Given the description of an element on the screen output the (x, y) to click on. 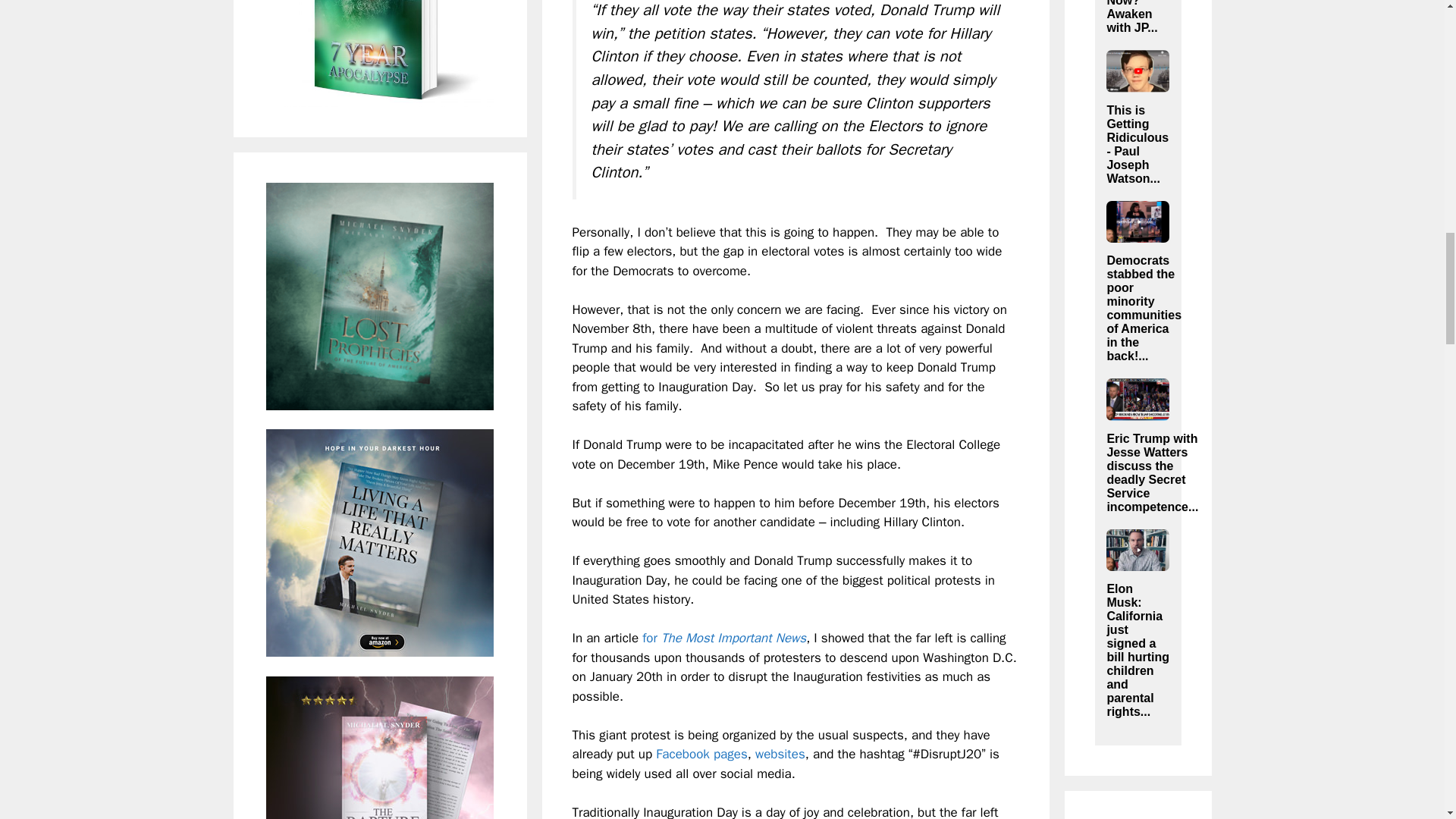
for The Most Important News (724, 637)
websites (780, 754)
Facebook pages (702, 754)
for The Most Important News (724, 637)
Facebook pages (702, 754)
websites (780, 754)
